Given the description of an element on the screen output the (x, y) to click on. 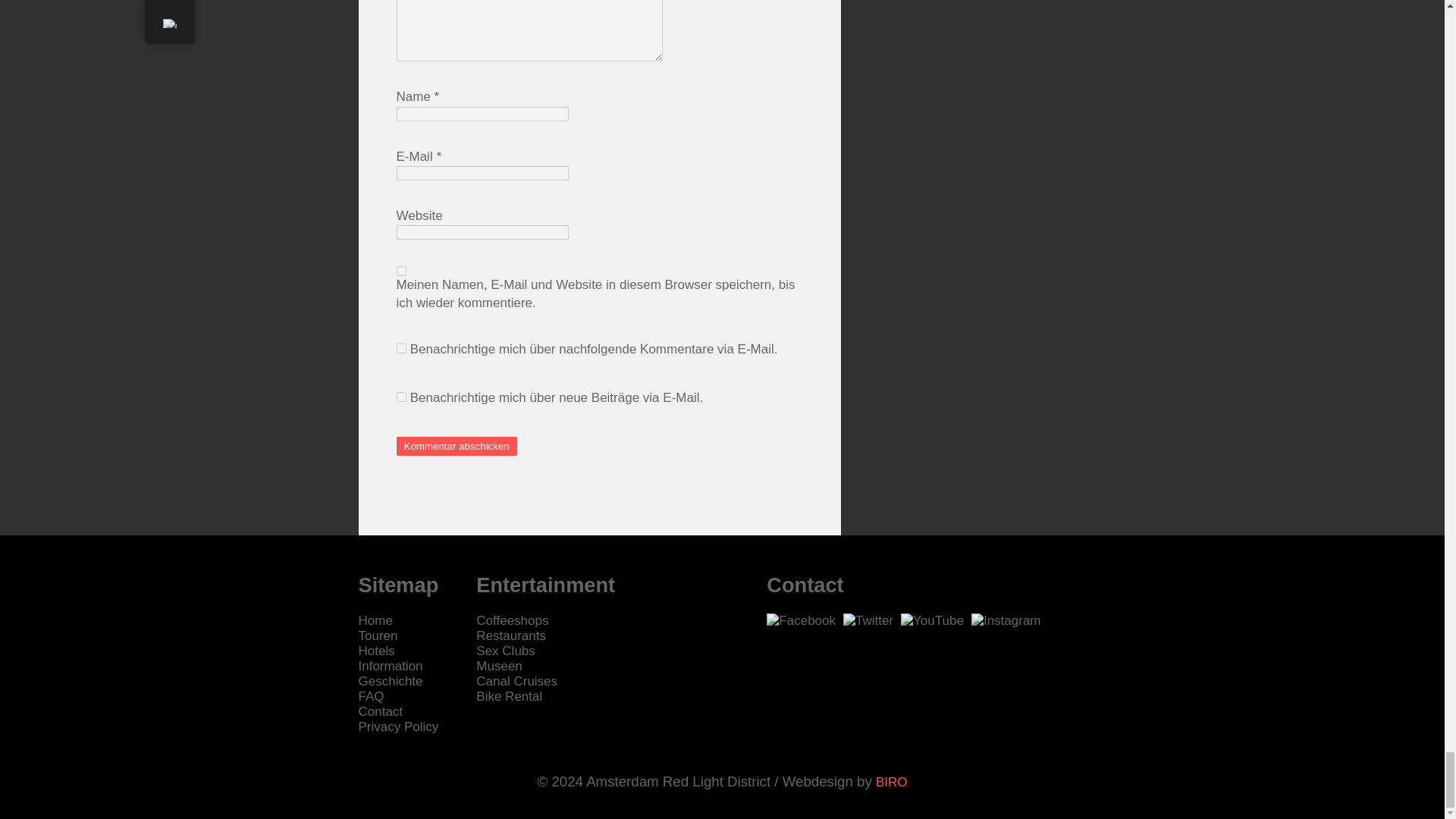
subscribe (401, 397)
Kommentar abschicken (456, 445)
subscribe (401, 347)
yes (401, 271)
